Given the description of an element on the screen output the (x, y) to click on. 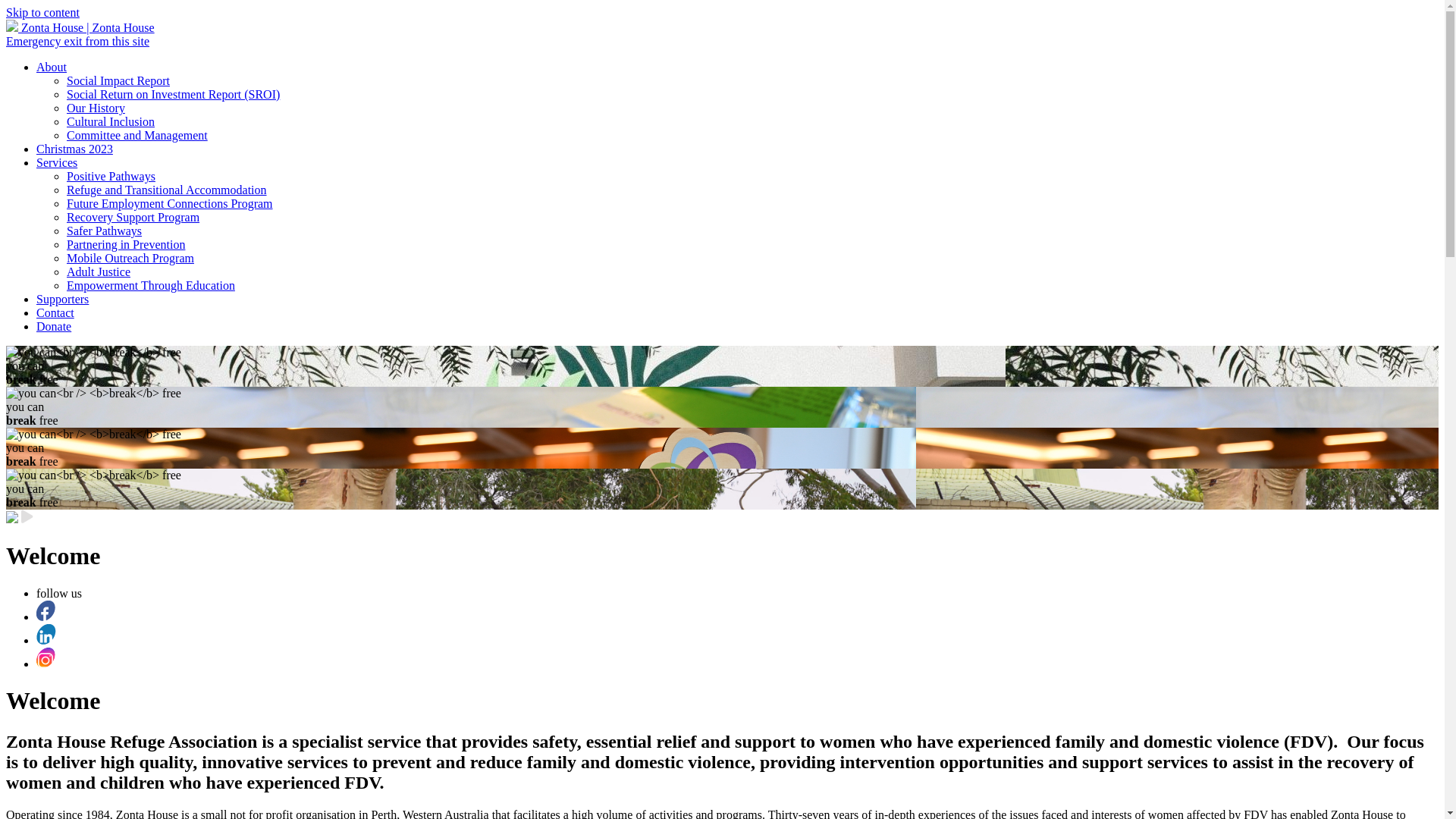
Donate Element type: text (53, 326)
Skip to content Element type: text (42, 12)
Emergency exit from this site Element type: text (77, 40)
Supporters Element type: text (62, 298)
Mobile Outreach Program Element type: text (130, 257)
Future Employment Connections Program Element type: text (169, 203)
Safer Pathways Element type: text (103, 230)
About Element type: text (51, 66)
Social Return on Investment Report (SROI) Element type: text (172, 93)
Partnering in Prevention Element type: text (125, 244)
Contact Element type: text (55, 312)
Cultural Inclusion Element type: text (110, 121)
Refuge and Transitional Accommodation Element type: text (166, 189)
Empowerment Through Education Element type: text (150, 285)
Committee and Management Element type: text (136, 134)
Services Element type: text (56, 162)
Our History Element type: text (95, 107)
Recovery Support Program Element type: text (132, 216)
Zonta House | Zonta House Element type: text (80, 27)
Christmas 2023 Element type: text (74, 148)
Adult Justice Element type: text (98, 271)
Positive Pathways Element type: text (110, 175)
Social Impact Report Element type: text (117, 80)
